Given the description of an element on the screen output the (x, y) to click on. 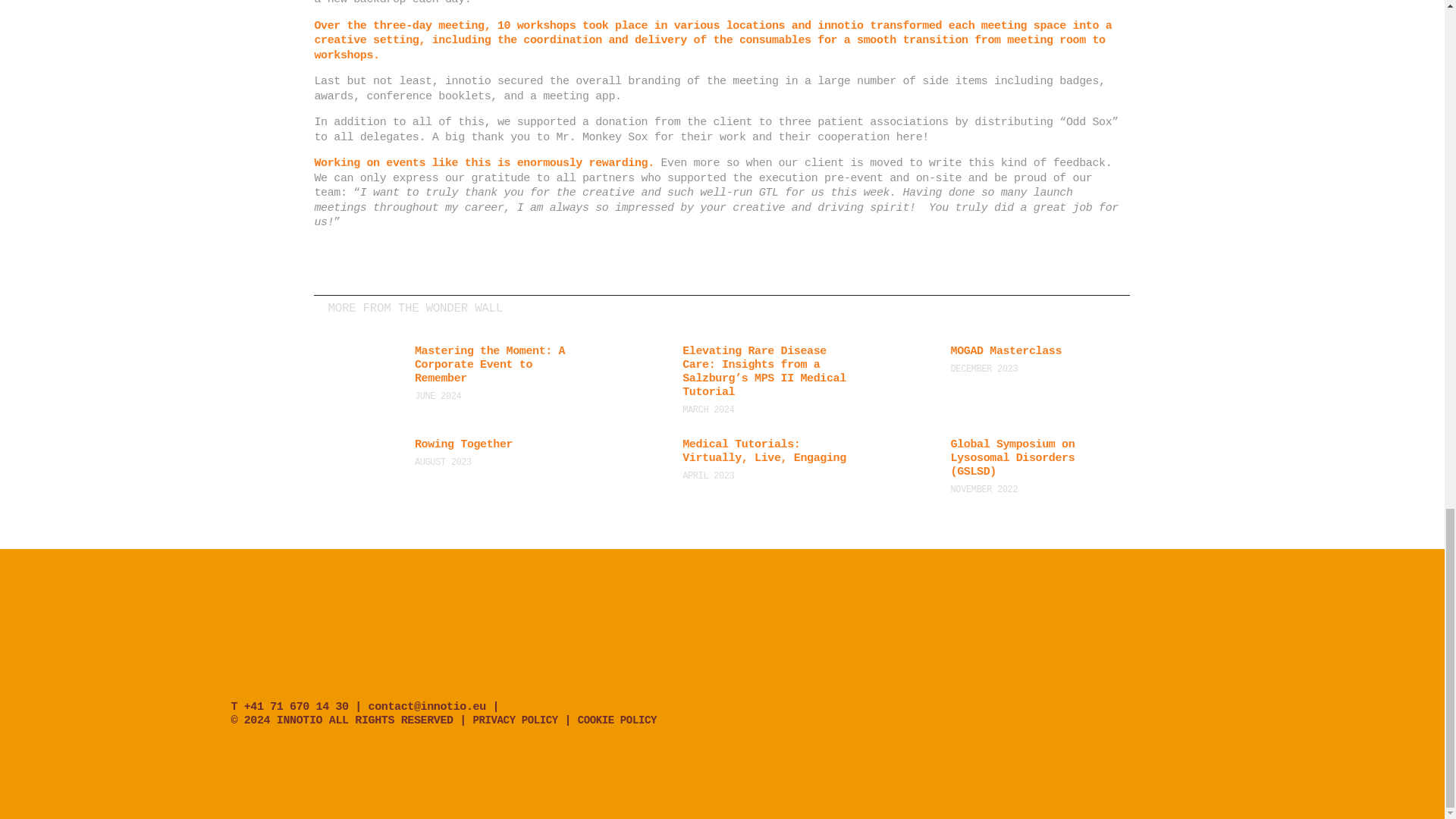
Cookie Policy  (617, 720)
Mastering the Moment: A Corporate Event to Remember (496, 364)
MOGAD Masterclass (1032, 351)
Rowing Together (496, 445)
Privacy Policy  (515, 720)
Medical Tutorials: Virtually, Live, Engaging (764, 452)
COOKIE POLICY (617, 720)
PRIVACY POLICY (515, 720)
